Given the description of an element on the screen output the (x, y) to click on. 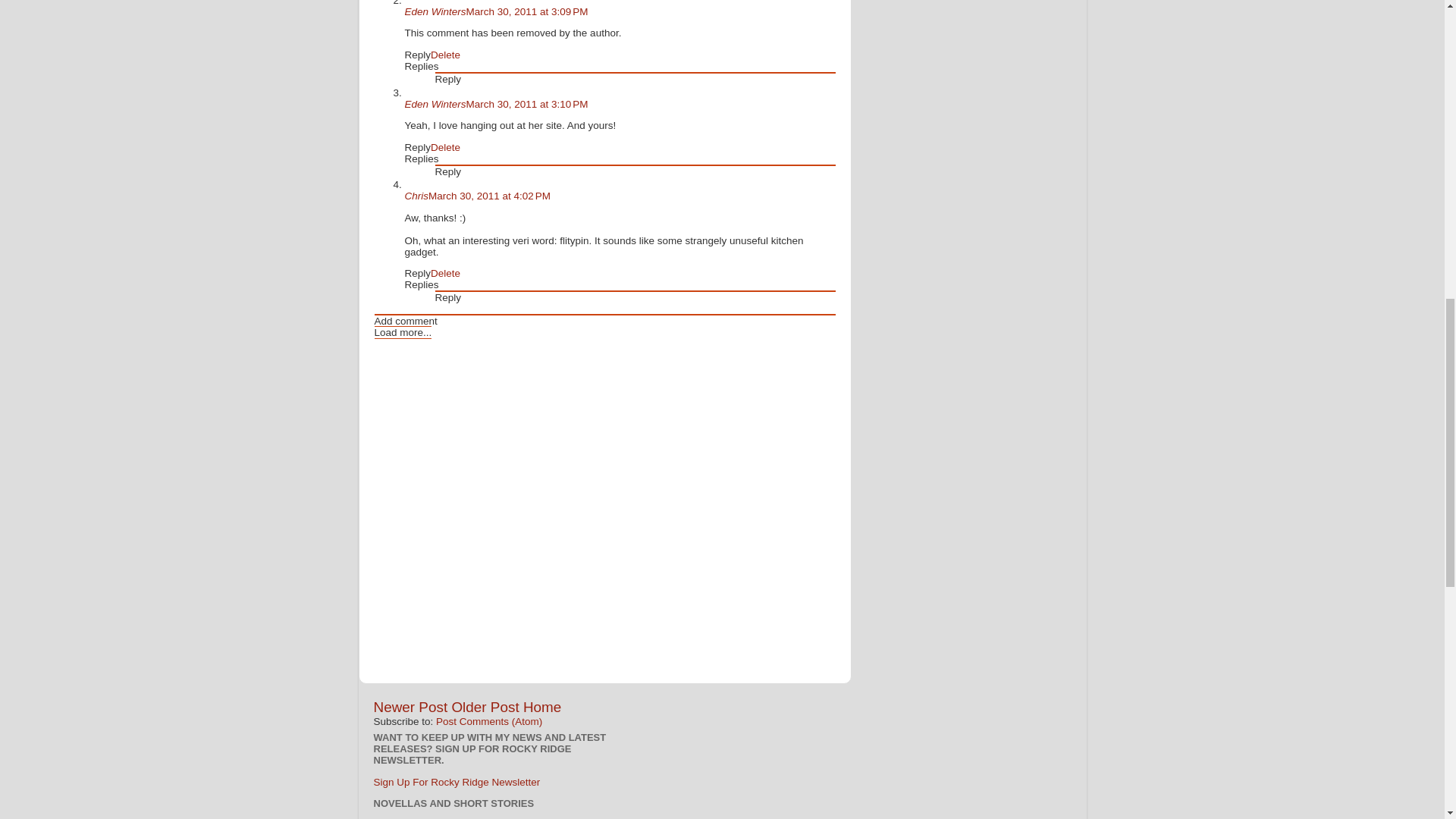
Reply (448, 297)
Reply (448, 79)
Replies (421, 284)
Reply (417, 147)
Add comment (406, 320)
Replies (421, 158)
Newer Post (409, 706)
Delete (445, 273)
Older Post (484, 706)
Reply (417, 273)
Eden Winters (434, 11)
Reply (417, 54)
Eden Winters (434, 103)
